Given the description of an element on the screen output the (x, y) to click on. 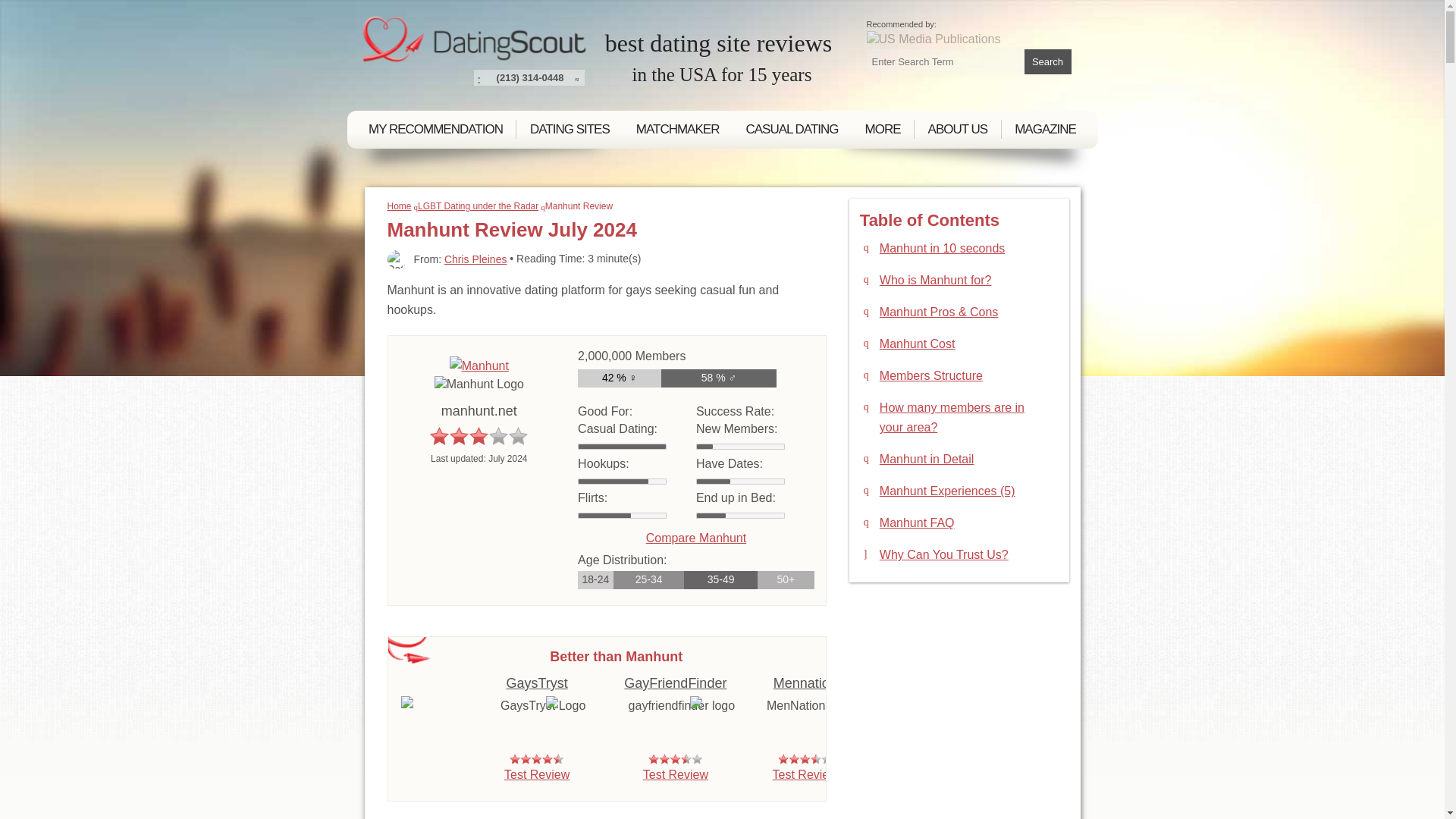
CASUAL DATING (791, 128)
MY RECOMMENDATION (435, 128)
Search (1046, 61)
Search (1046, 61)
Search (1046, 61)
DATING SITES (569, 128)
MATCHMAKER (677, 128)
